Given the description of an element on the screen output the (x, y) to click on. 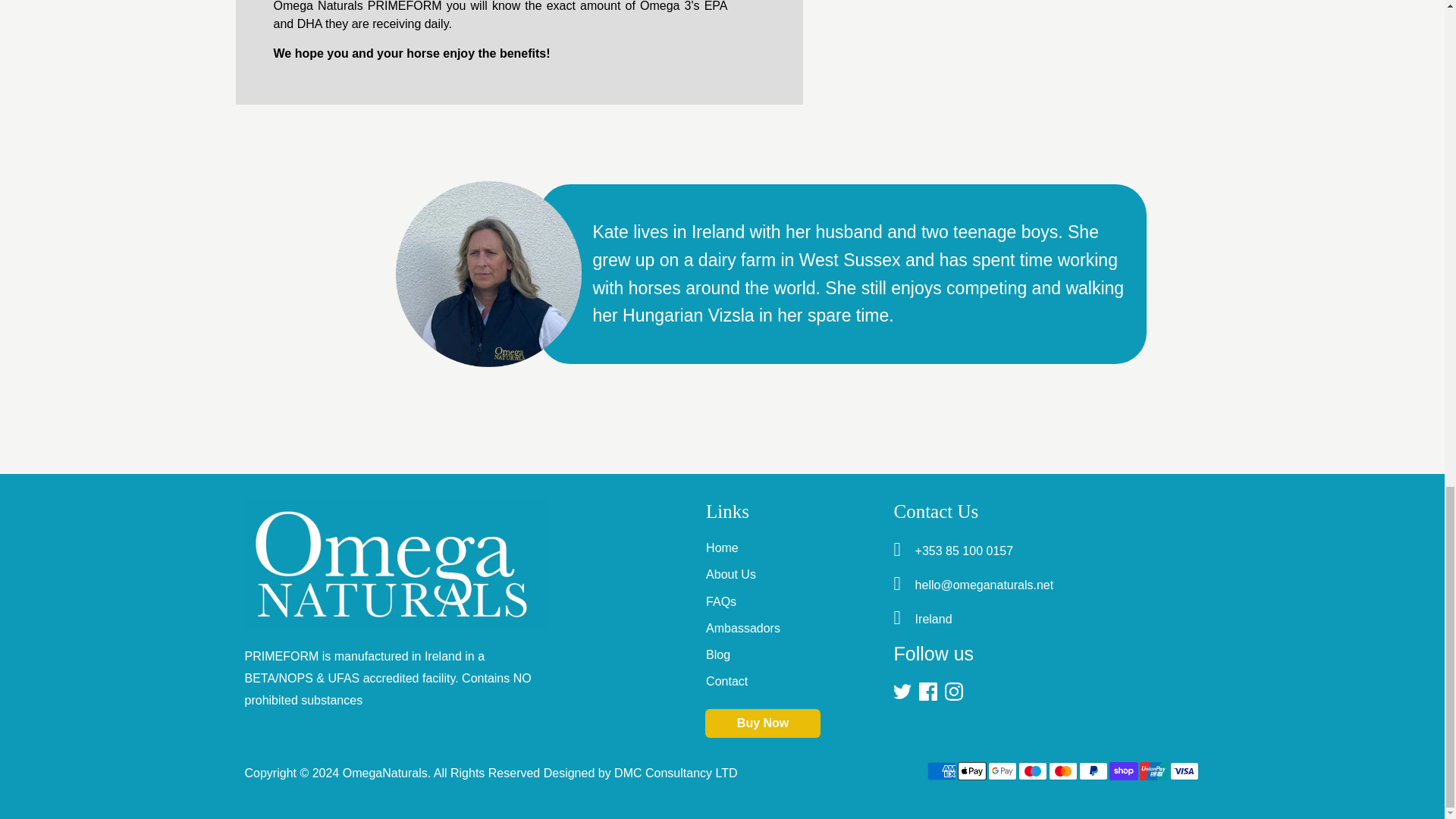
Maestro (1031, 771)
PayPal (1092, 771)
Apple Pay (970, 771)
American Express (940, 771)
Google Pay (1001, 771)
Union Pay (1152, 771)
Visa (1183, 771)
Shop Pay (1122, 771)
Mastercard (1062, 771)
